Given the description of an element on the screen output the (x, y) to click on. 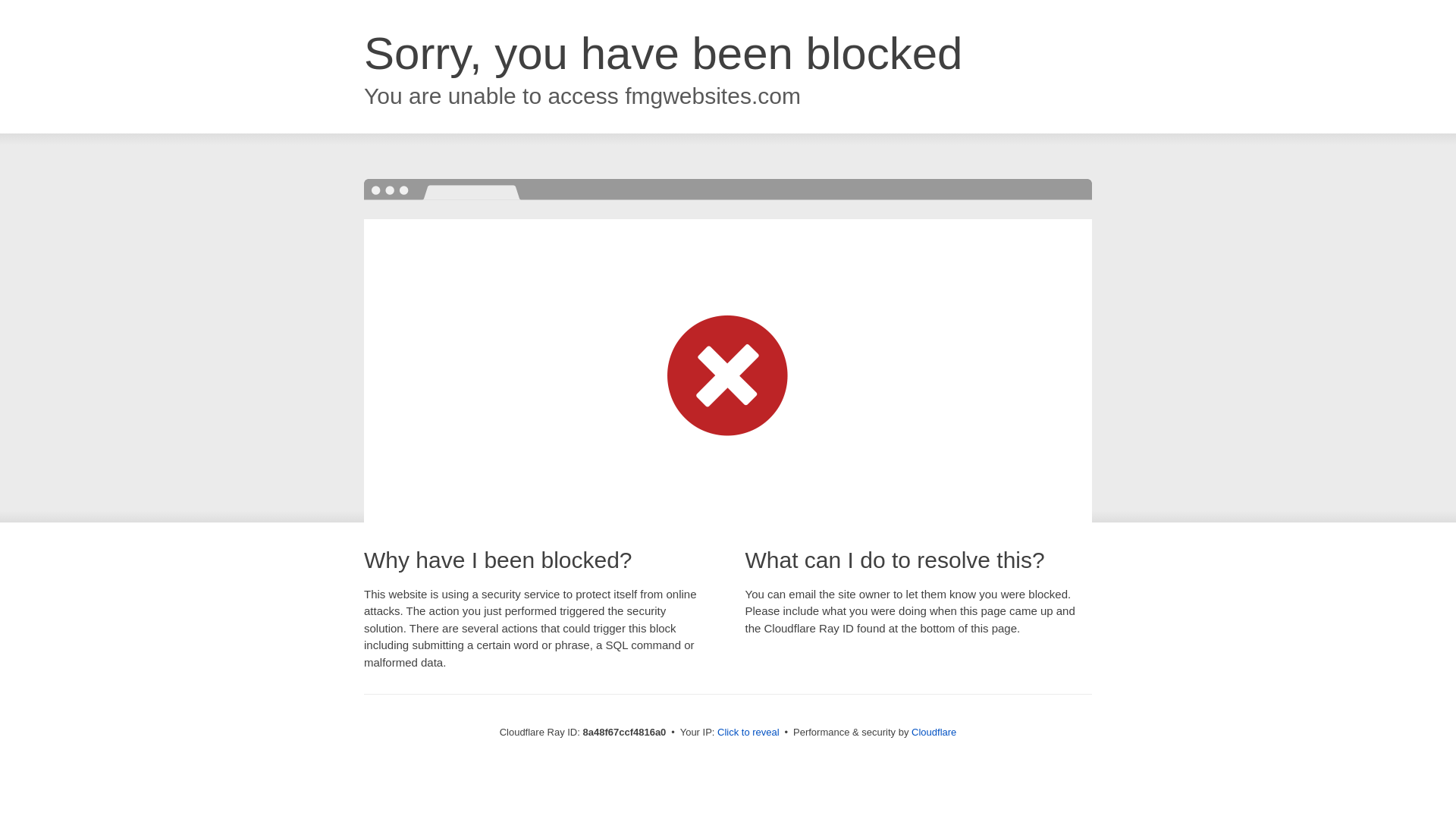
Click to reveal (747, 732)
Cloudflare (933, 731)
